Given the description of an element on the screen output the (x, y) to click on. 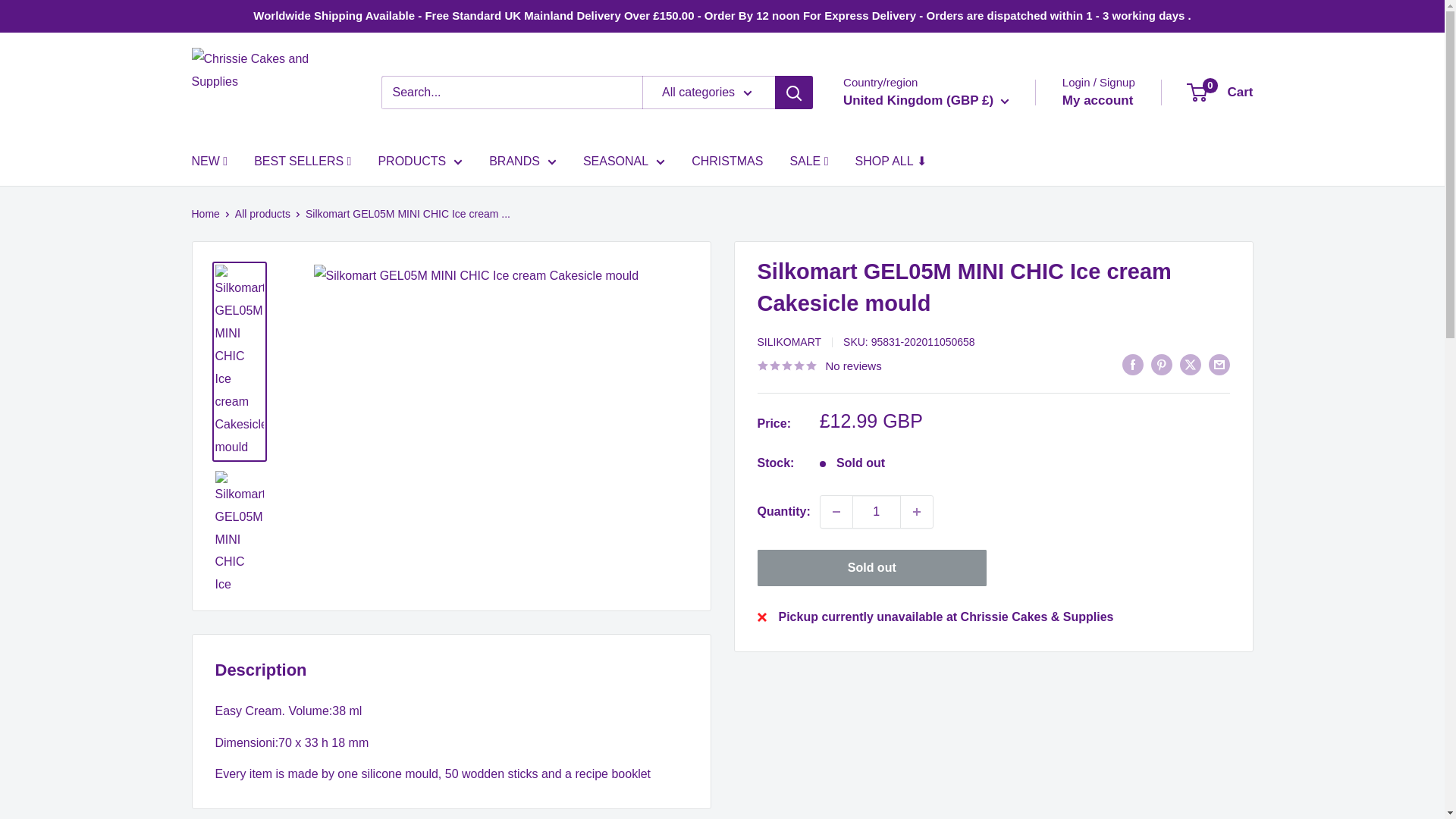
Increase quantity by 1 (917, 511)
Decrease quantity by 1 (836, 511)
1 (876, 511)
